Given the description of an element on the screen output the (x, y) to click on. 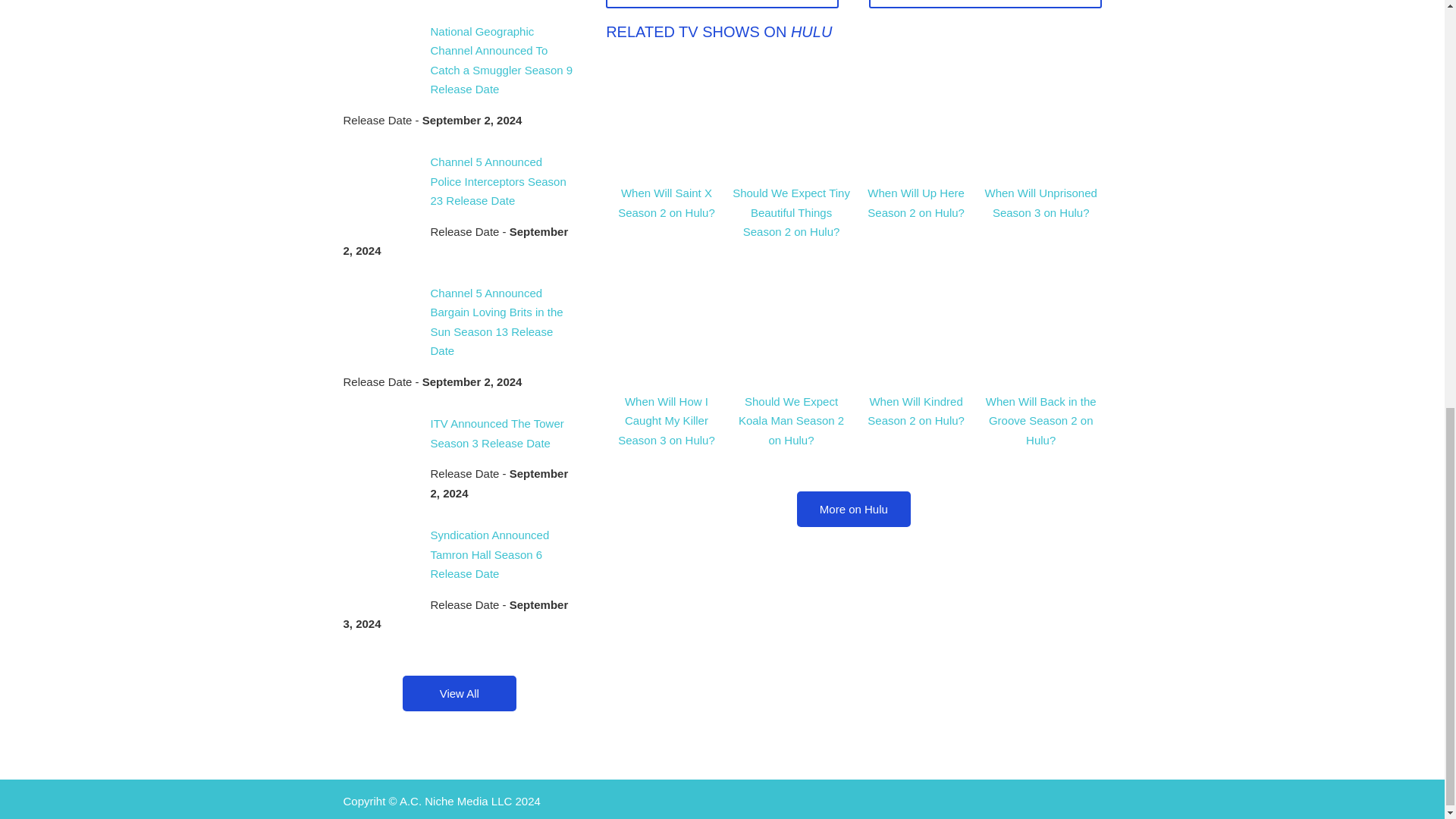
When Will Back in the Groove Season 2 on Hulu? (1040, 420)
When Will How I Caught My Killer Season 3 on Hulu? (665, 420)
More on Hulu (853, 509)
Should We Expect Koala Man Season 2 on Hulu? (791, 420)
When Will Saint X Season 2 on Hulu? (665, 202)
When Will Unprisoned Season 3 on Hulu? (1040, 202)
When Will Up Here Season 2 on Hulu? (915, 202)
When Will Kindred Season 2 on Hulu? (915, 410)
Should We Expect Tiny Beautiful Things Season 2 on Hulu? (791, 212)
